Given the description of an element on the screen output the (x, y) to click on. 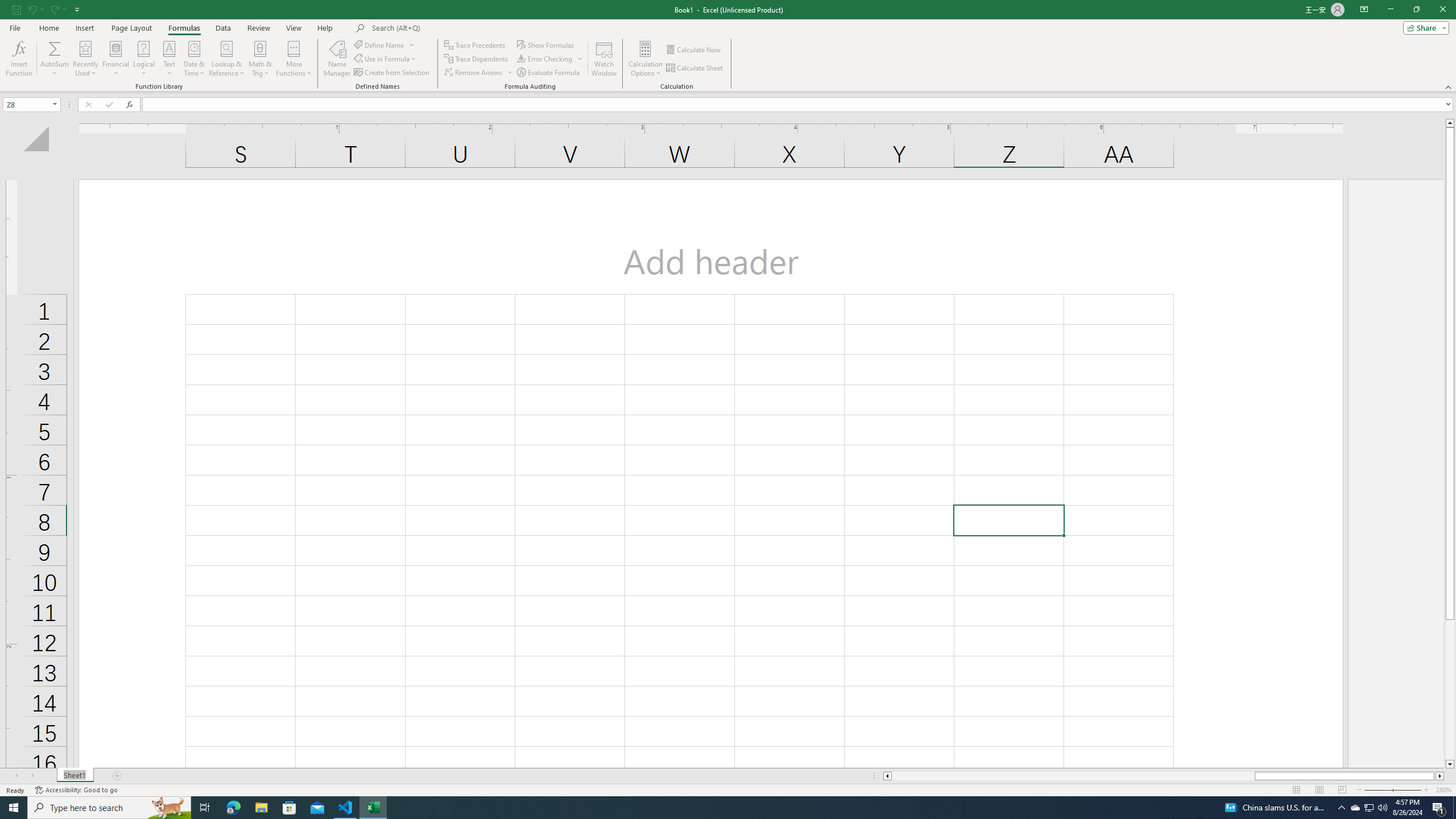
Calculation Options (645, 58)
Financial (116, 58)
AutoSum (54, 58)
More Functions (294, 58)
Watch Window (603, 58)
Sum (54, 48)
